Given the description of an element on the screen output the (x, y) to click on. 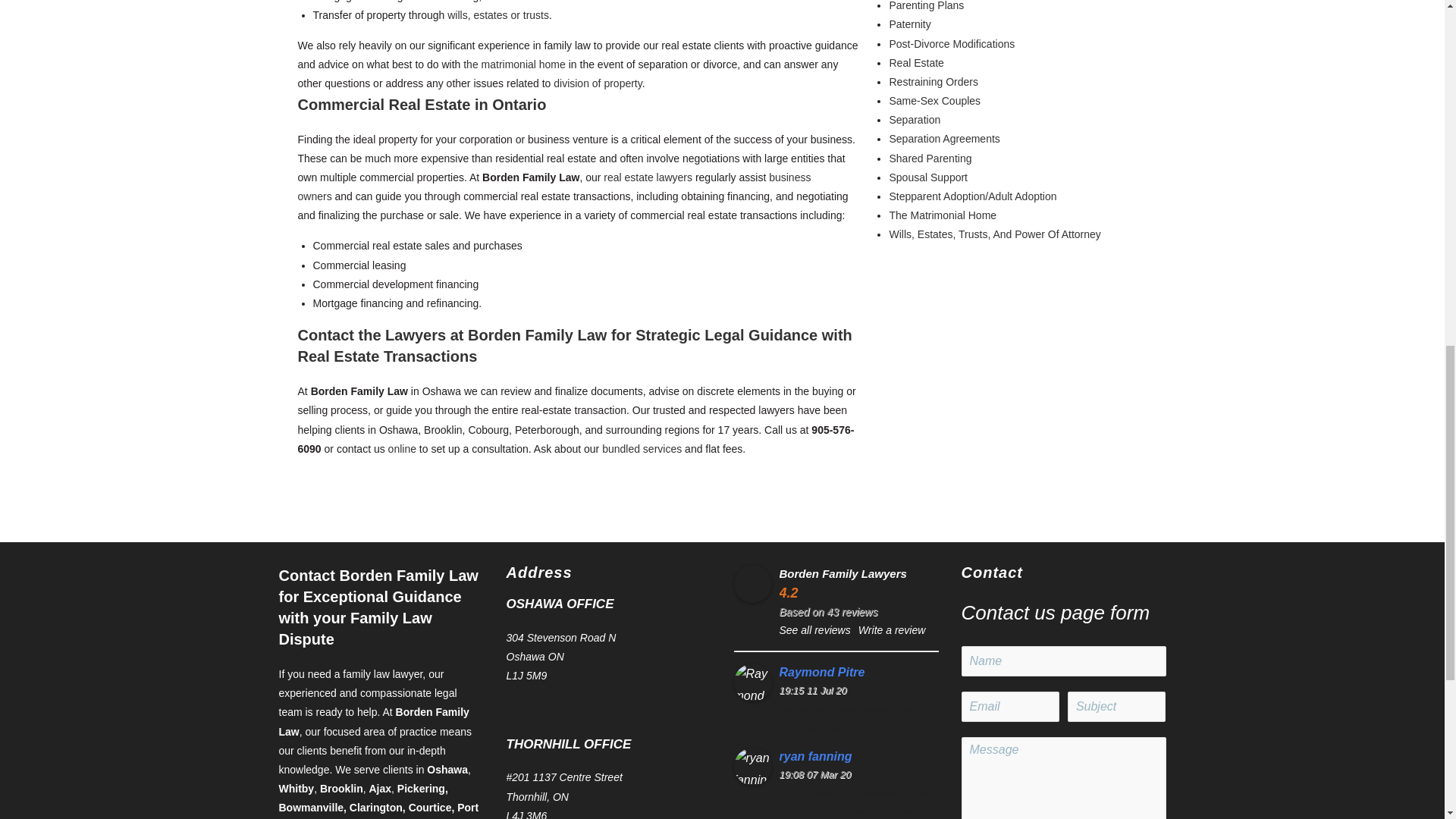
Raymond Pitre (858, 672)
ryan fanning (752, 766)
Raymond Pitre (752, 682)
ryan fanning (858, 756)
Borden Family Lawyers (752, 583)
